Given the description of an element on the screen output the (x, y) to click on. 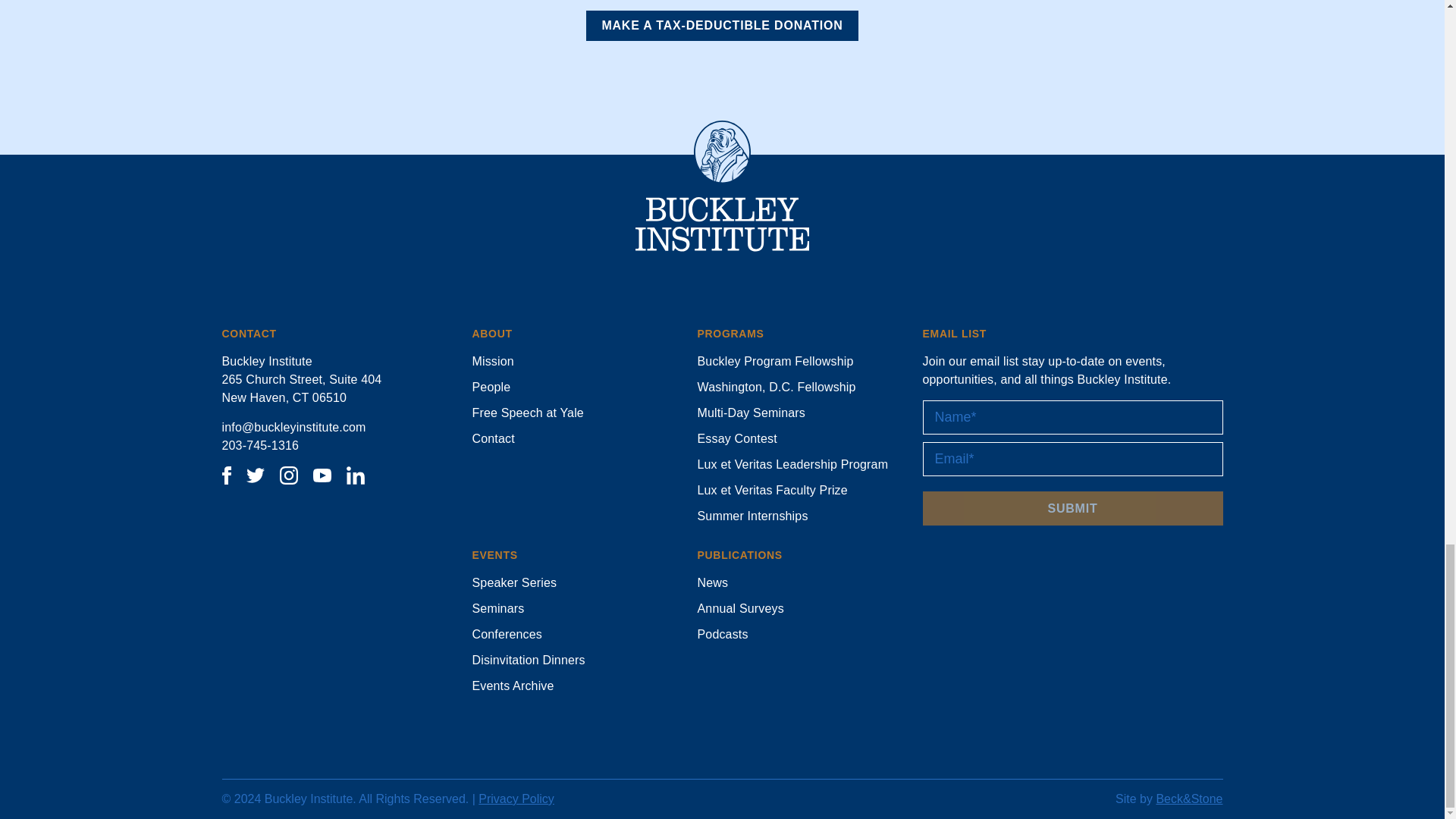
CONTACT (248, 333)
Submit (1072, 508)
MAKE A TAX-DEDUCTIBLE DONATION (721, 25)
